Given the description of an element on the screen output the (x, y) to click on. 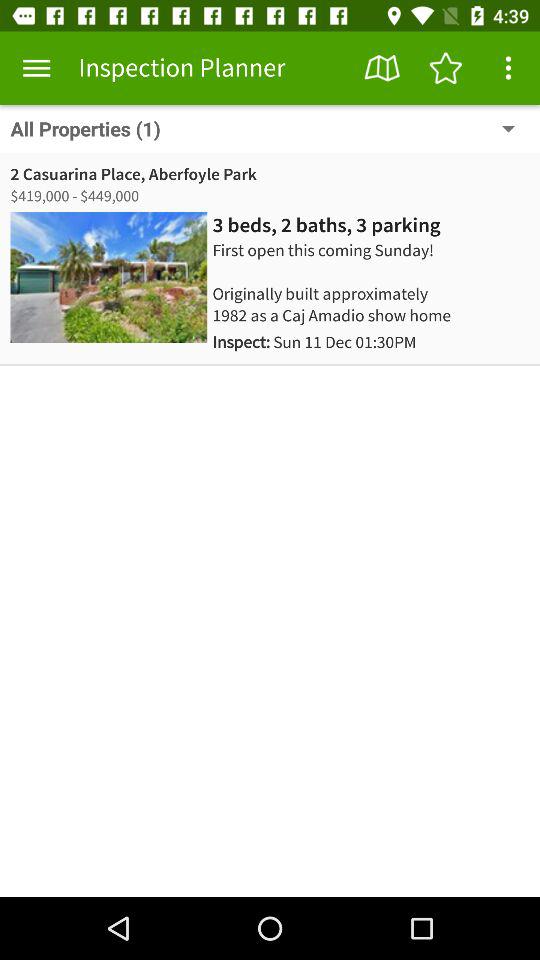
open the item next to the inspection planner app (36, 68)
